Given the description of an element on the screen output the (x, y) to click on. 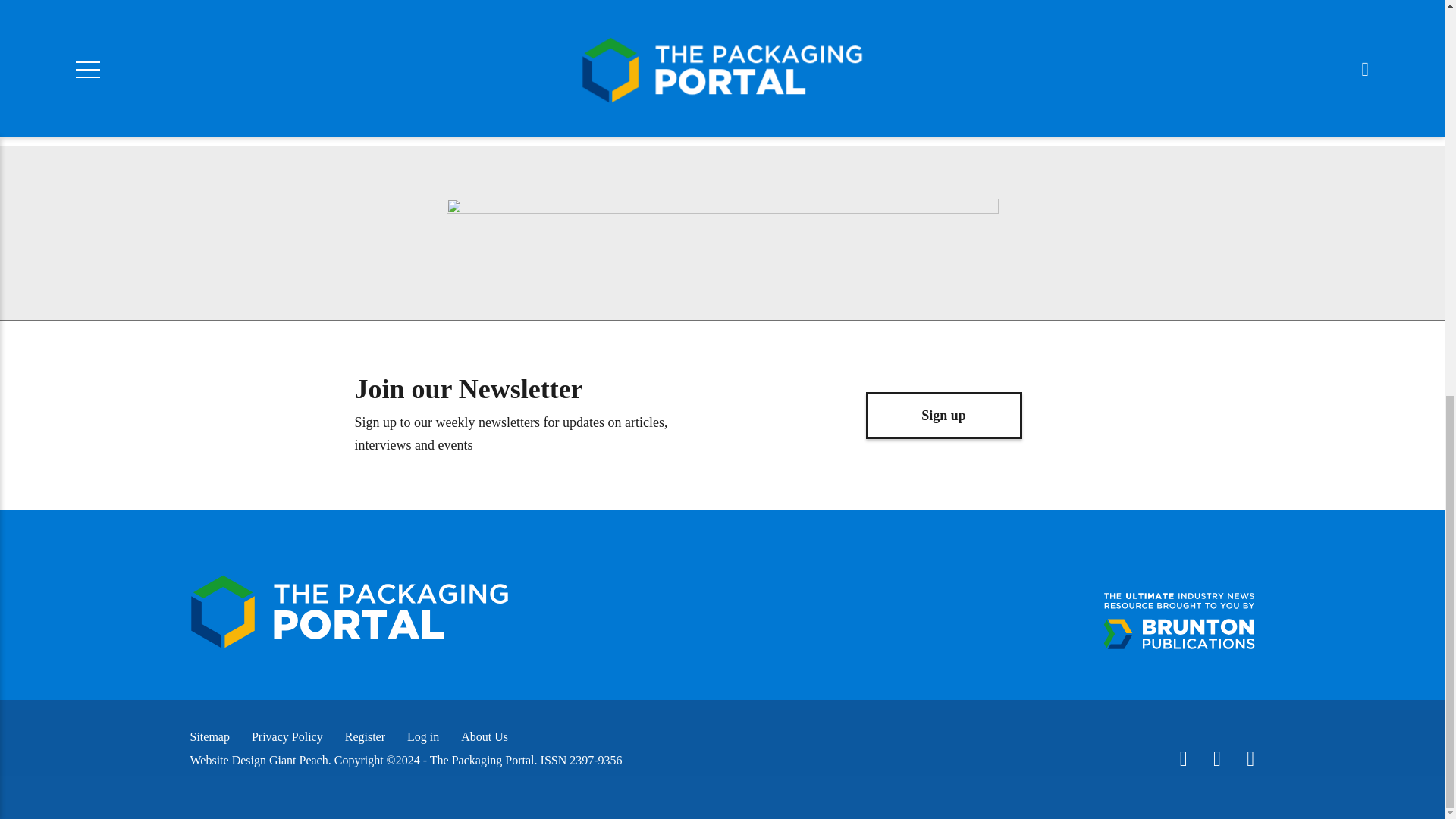
Privacy Policy (287, 736)
Register (365, 736)
Sitemap (208, 736)
About Us (484, 736)
Sign up (944, 415)
Log in (423, 736)
